Given the description of an element on the screen output the (x, y) to click on. 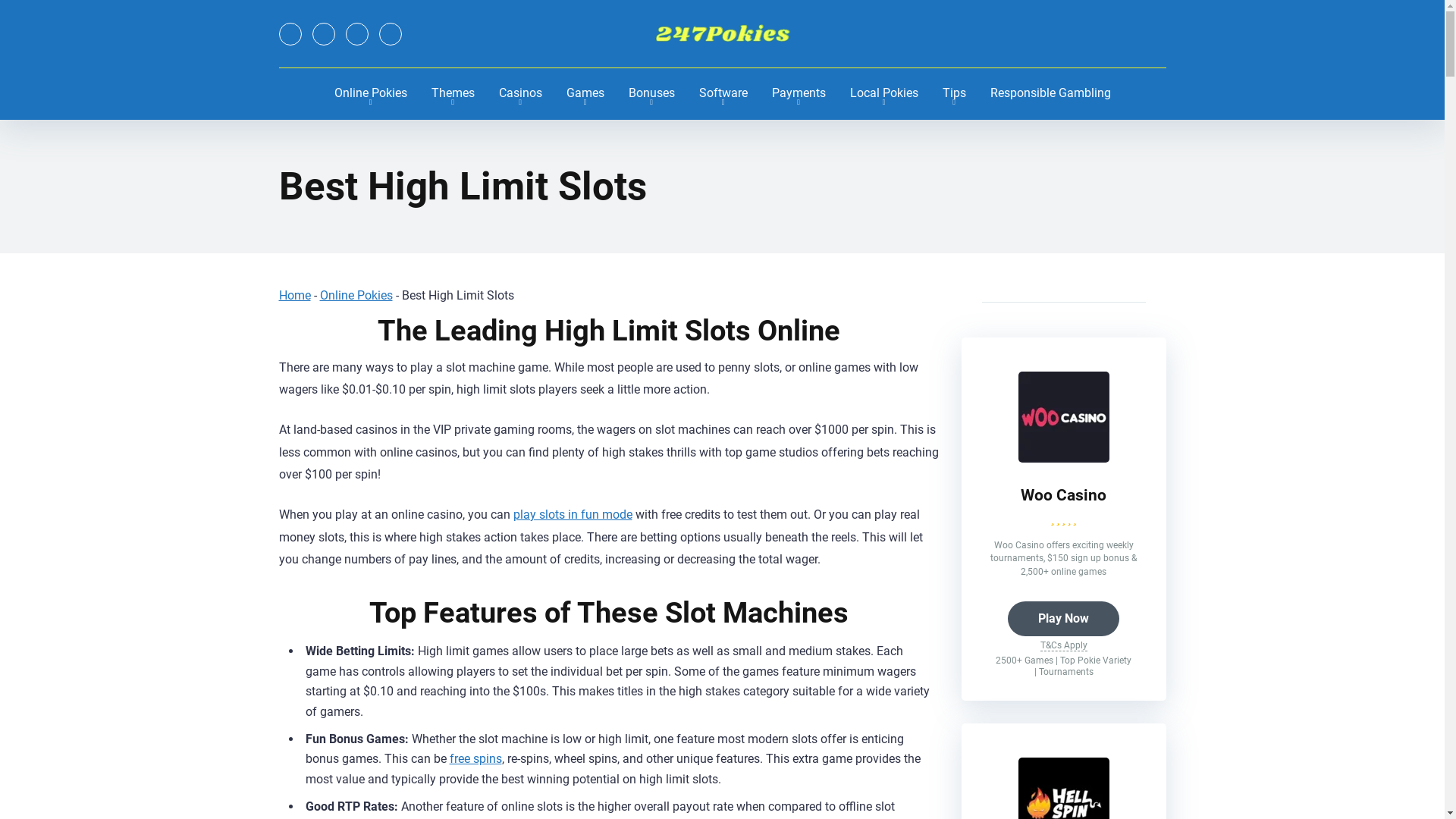
Games Element type: text (584, 93)
Casinos Element type: text (520, 93)
Online Pokies Element type: text (369, 93)
Themes Element type: text (452, 93)
Local Pokies Element type: text (883, 93)
YouTube Element type: hover (323, 33)
Home Element type: text (294, 295)
Woo Casino Element type: hover (1062, 458)
Instagram Element type: hover (356, 33)
247Pokies Element type: hover (722, 33)
Website Element type: hover (390, 33)
Play Now Element type: text (1063, 618)
play slots in fun mode Element type: text (571, 514)
Tips Element type: text (953, 93)
Twitter Element type: hover (290, 33)
Woo Casino Element type: text (1063, 494)
Payments Element type: text (798, 93)
Responsible Gambling Element type: text (1050, 93)
Software Element type: text (723, 93)
Online Pokies Element type: text (356, 295)
Bonuses Element type: text (650, 93)
free spins Element type: text (474, 758)
